Given the description of an element on the screen output the (x, y) to click on. 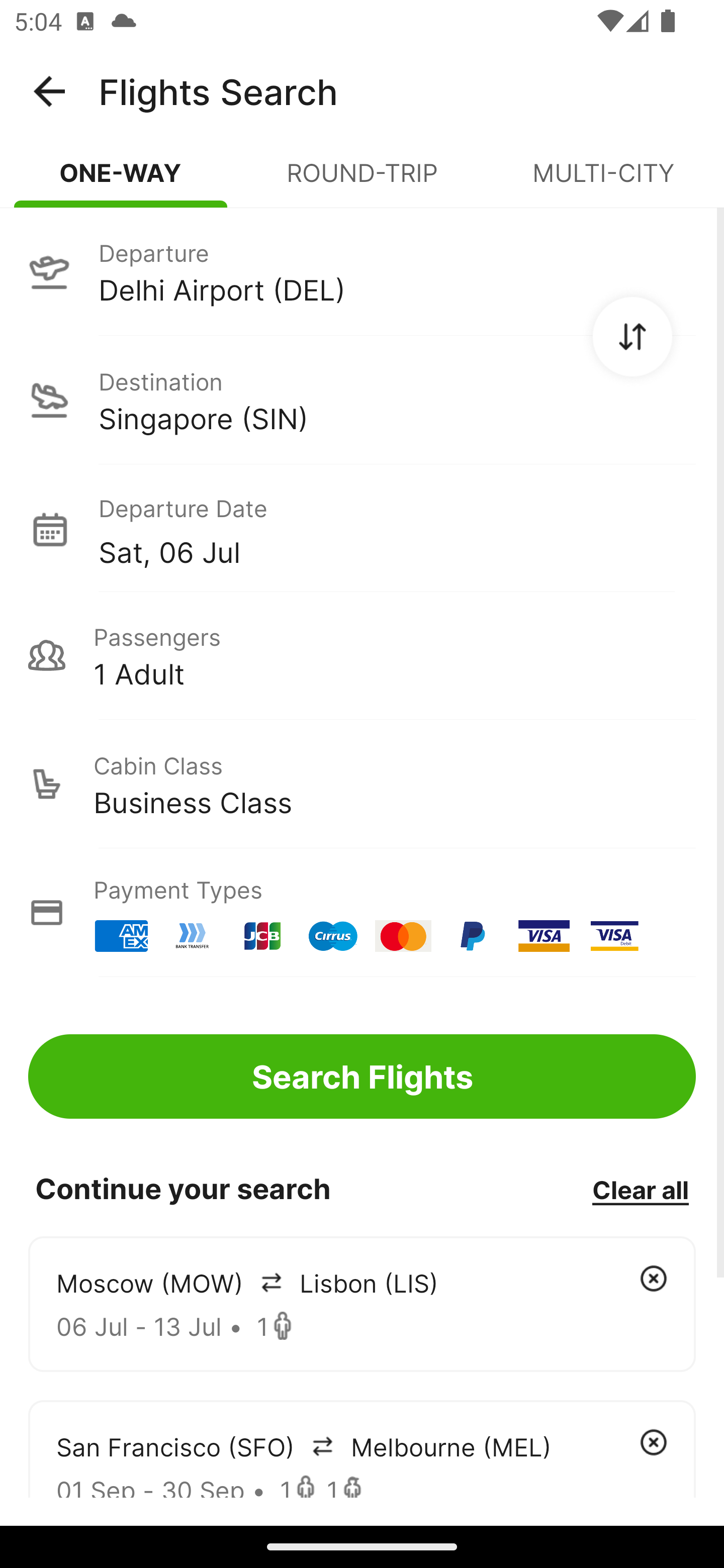
ONE-WAY (120, 180)
ROUND-TRIP (361, 180)
MULTI-CITY (603, 180)
Departure Delhi Airport (DEL) (362, 270)
Destination Singapore (SIN) (362, 400)
Departure Date Sat, 06 Jul (396, 528)
Passengers 1 Adult (362, 655)
Cabin Class Business Class (362, 783)
Payment Types (362, 912)
Search Flights (361, 1075)
Clear all (640, 1189)
